Given the description of an element on the screen output the (x, y) to click on. 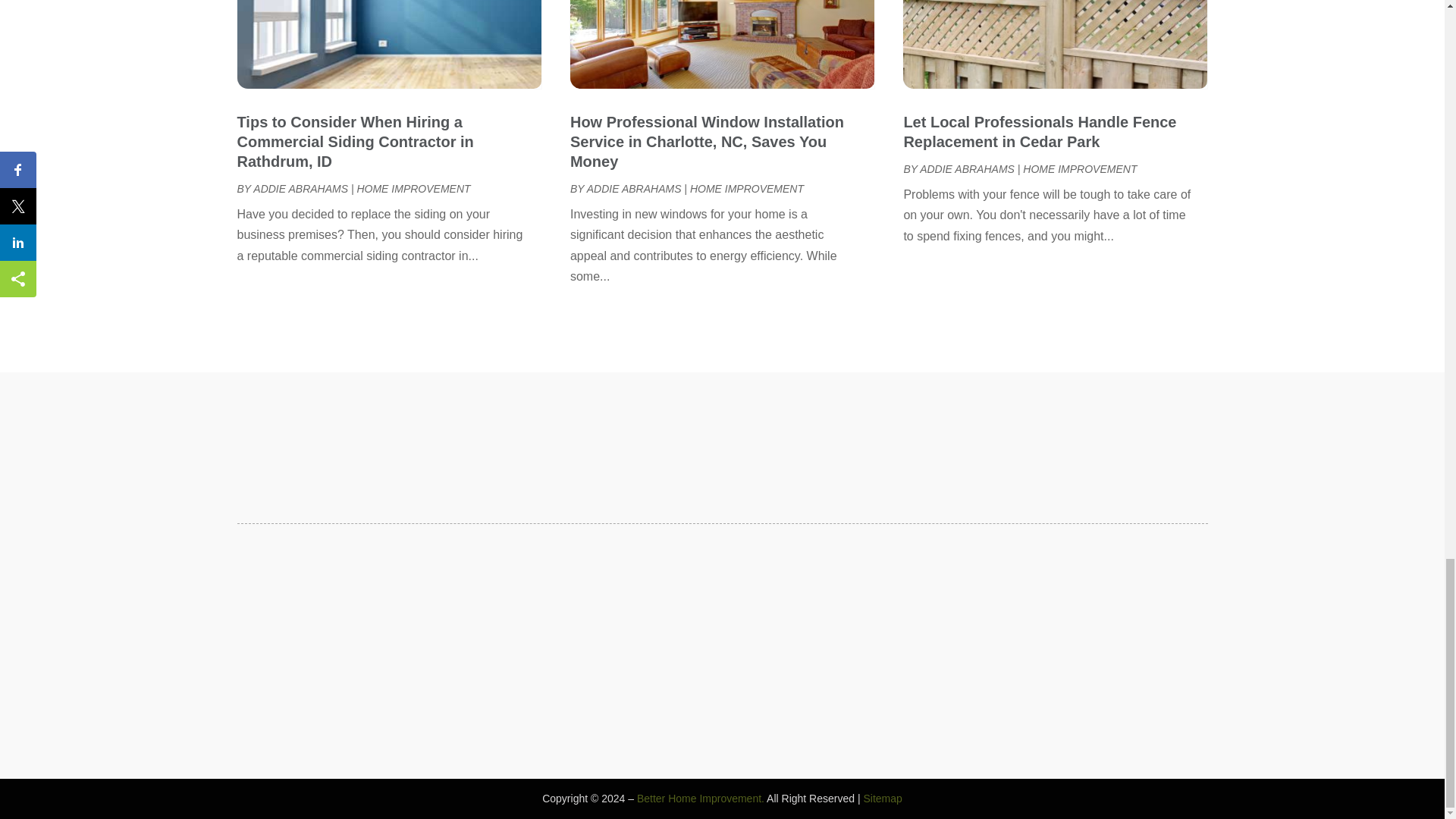
Posts by Addie Abrahams (633, 188)
Posts by Addie Abrahams (967, 168)
Posts by Addie Abrahams (300, 188)
